Given the description of an element on the screen output the (x, y) to click on. 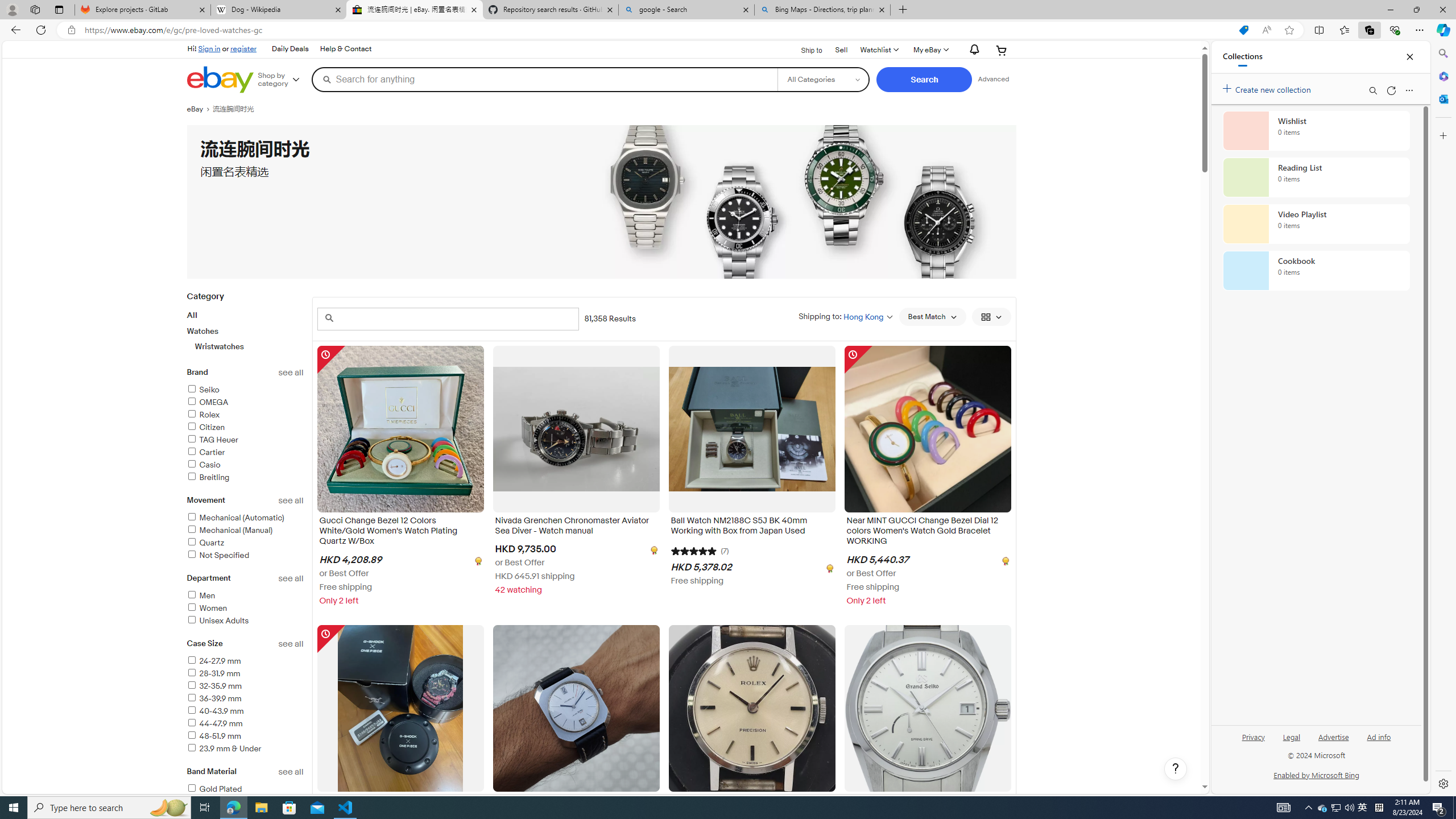
This site has coupons! Shopping in Microsoft Edge, 20 (1243, 29)
See all movement refinements (291, 500)
48-51.9 mm (213, 736)
44-47.9 mm (245, 724)
32-35.9 mm (245, 686)
Daily Deals (289, 49)
WatchlistExpand Watch List (878, 49)
Seiko (245, 389)
